Given the description of an element on the screen output the (x, y) to click on. 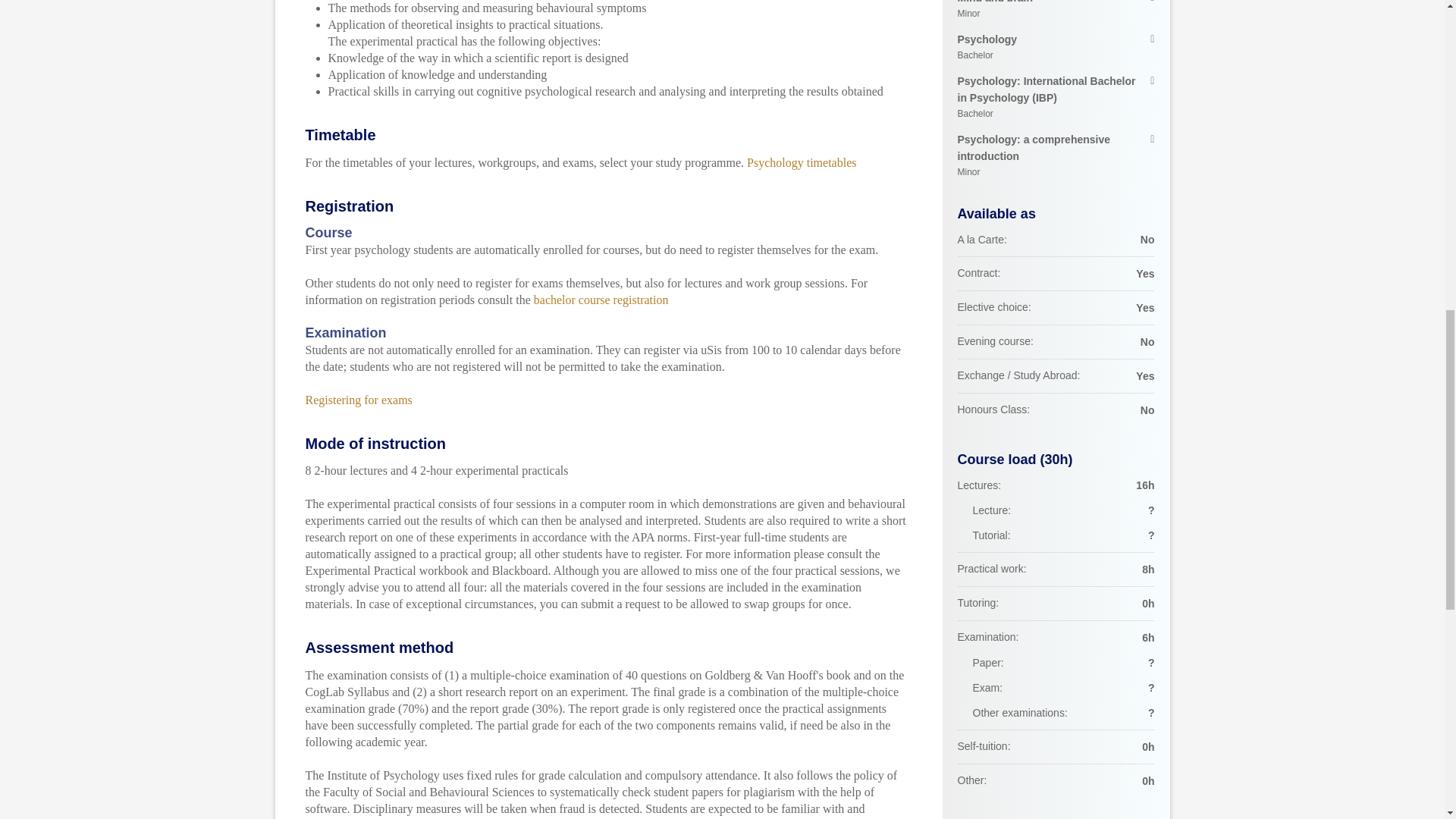
Registering for exams (358, 399)
bachelor course registration (1055, 47)
Psychology timetables (1055, 11)
